Given the description of an element on the screen output the (x, y) to click on. 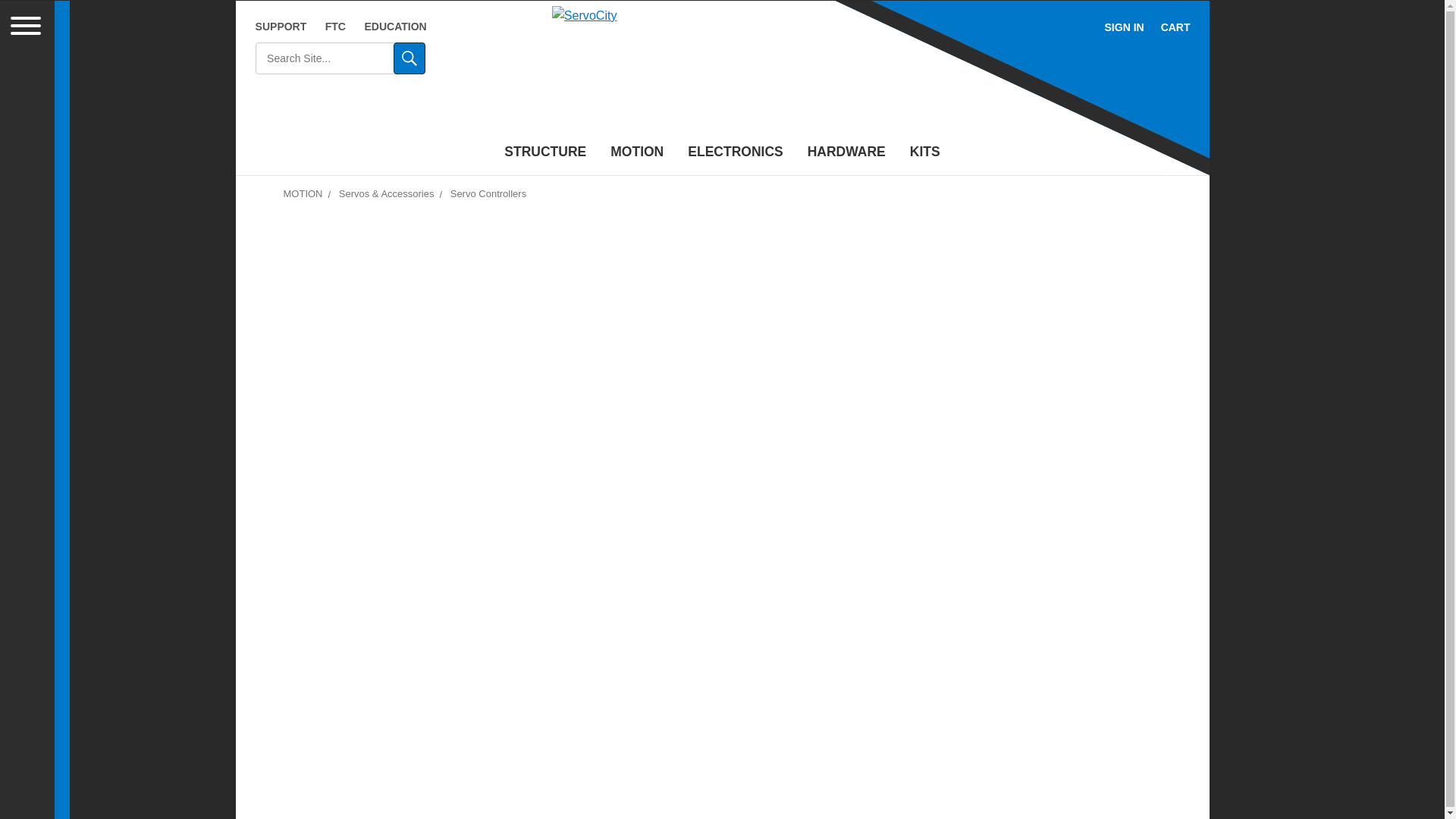
ServoCity Home (721, 71)
KITS (925, 153)
FTC (335, 26)
CART (1175, 27)
HARDWARE (846, 153)
EDUCATION (394, 26)
ELECTRONICS (734, 153)
SUPPORT (280, 26)
STRUCTURE (545, 153)
SIGN IN (1124, 27)
MOTION (636, 153)
Go (409, 58)
